Given the description of an element on the screen output the (x, y) to click on. 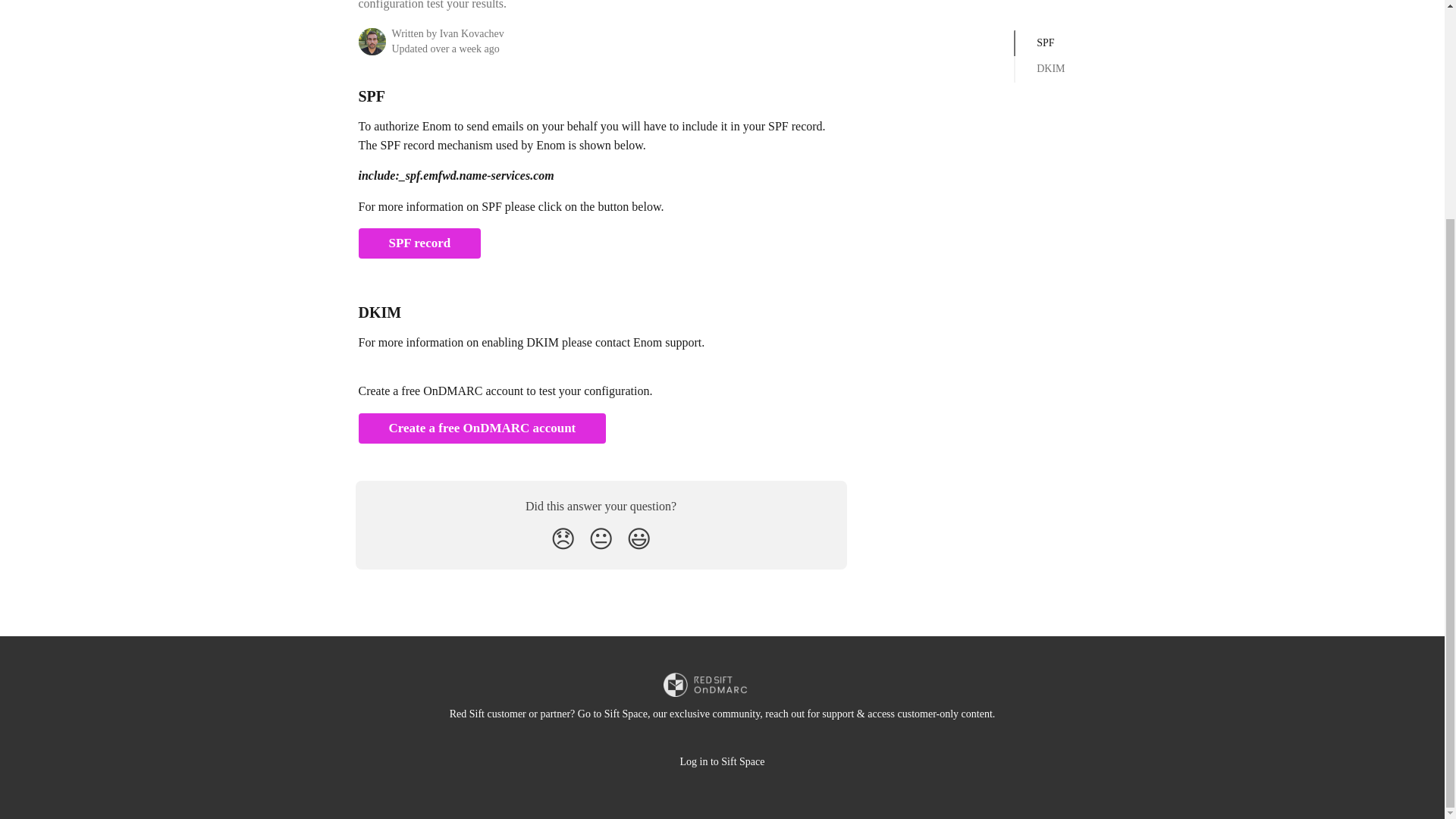
Smiley (638, 538)
SPF record (419, 243)
Create a free OnDMARC account (481, 428)
Log in to Sift Space (721, 761)
Neutral (600, 538)
Disappointed (562, 538)
